Given the description of an element on the screen output the (x, y) to click on. 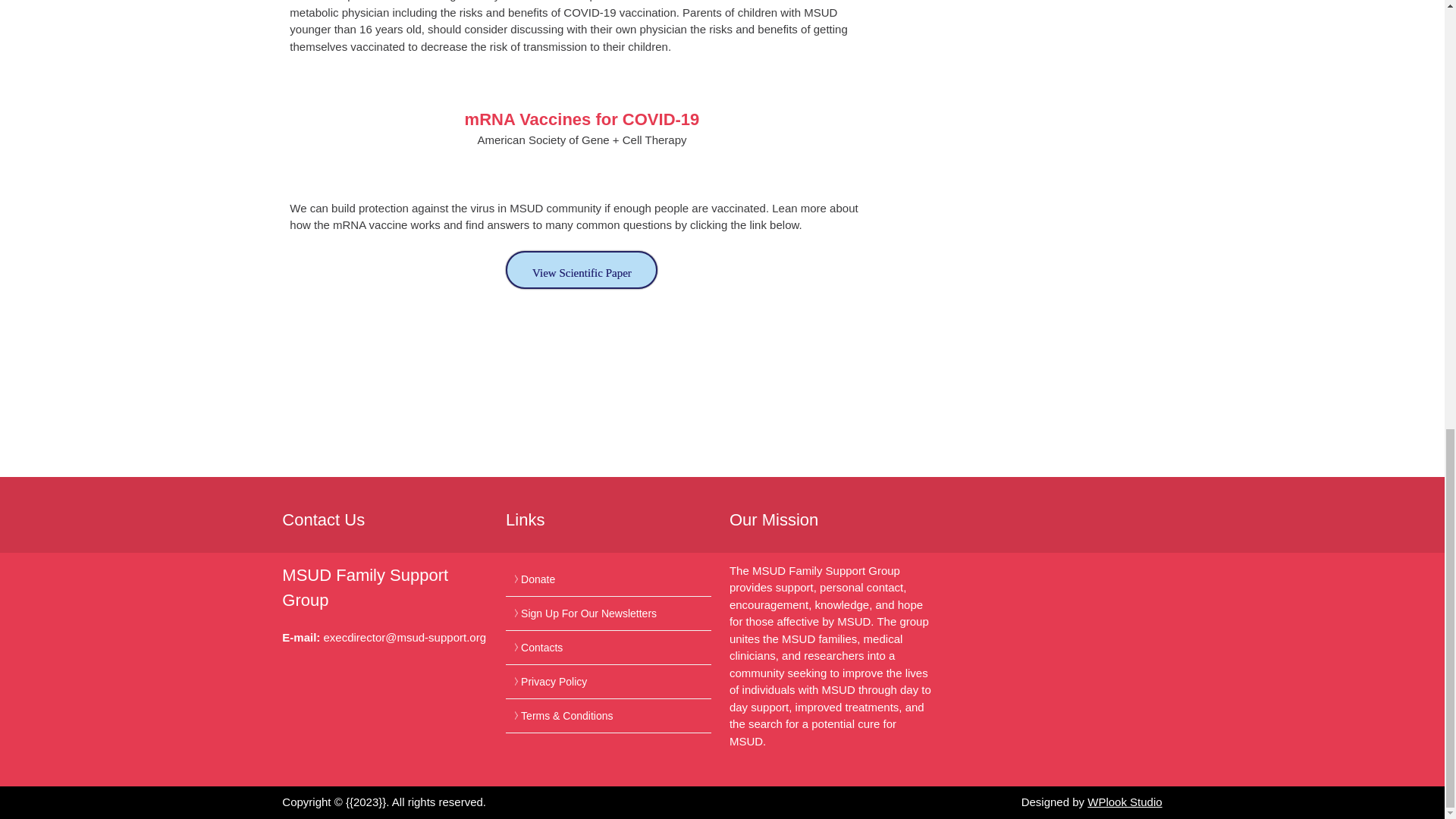
WPlook Studio (1124, 801)
